Given the description of an element on the screen output the (x, y) to click on. 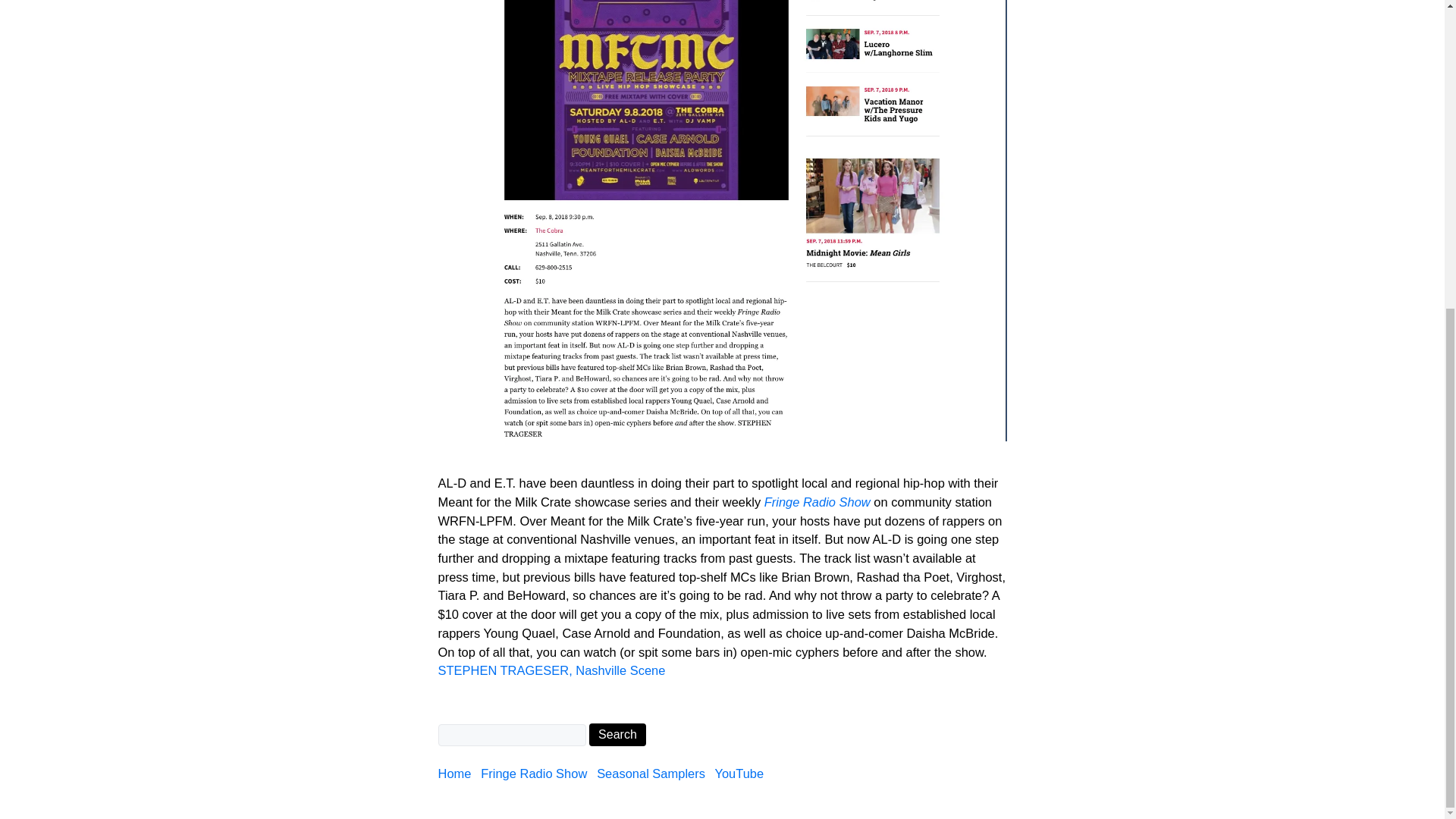
YouTube (742, 773)
Home (457, 773)
Search (617, 734)
Seasonal Samplers (653, 773)
Fringe Radio Show (817, 501)
Fringe Radio Show (536, 773)
STEPHEN TRAGESER, Nashville Scene (551, 670)
Search (617, 734)
